Given the description of an element on the screen output the (x, y) to click on. 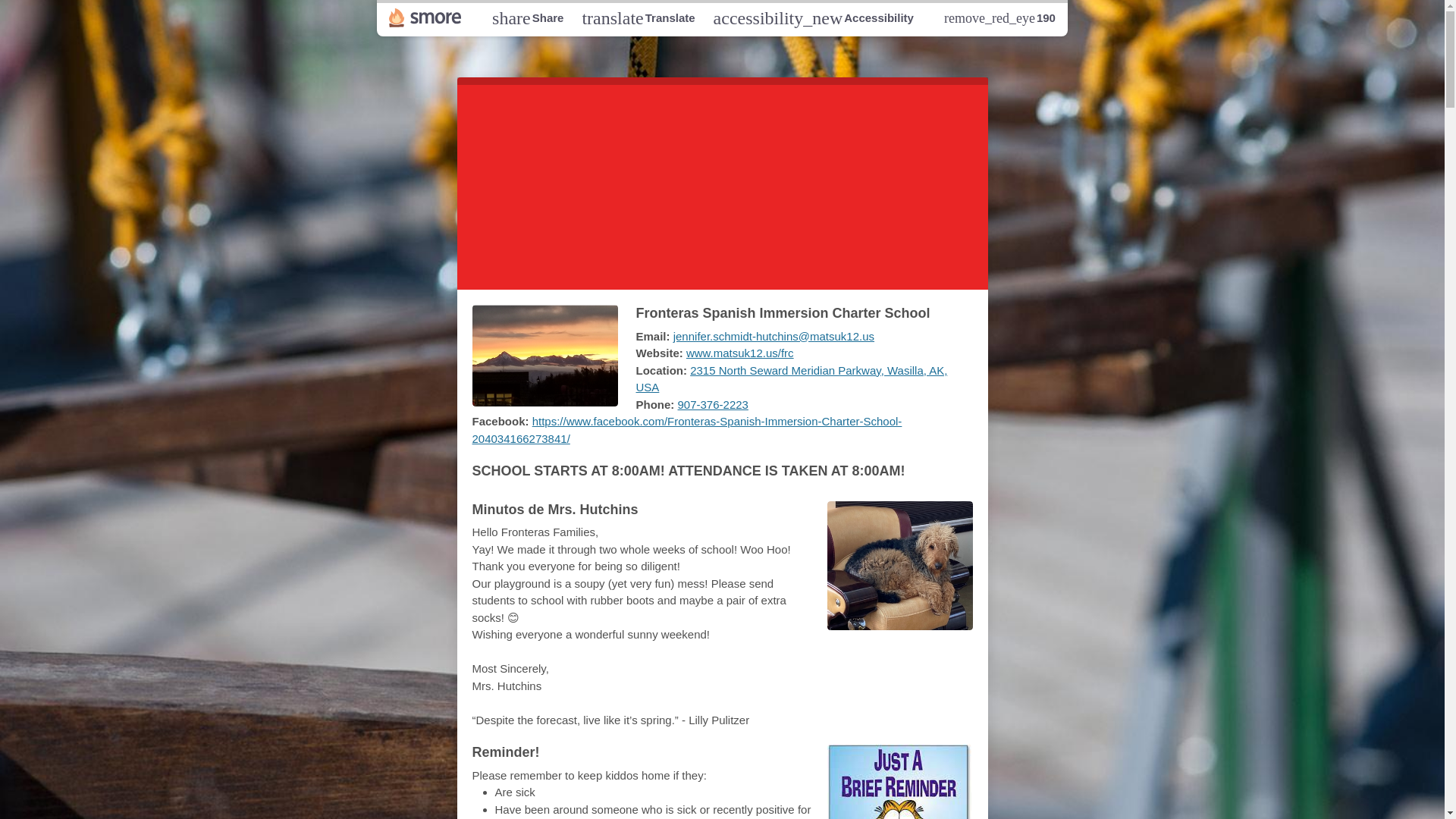
907-376-2223 (527, 18)
2315 North Seward Meridian Parkway, Wasilla, AK, USA (722, 182)
